Given the description of an element on the screen output the (x, y) to click on. 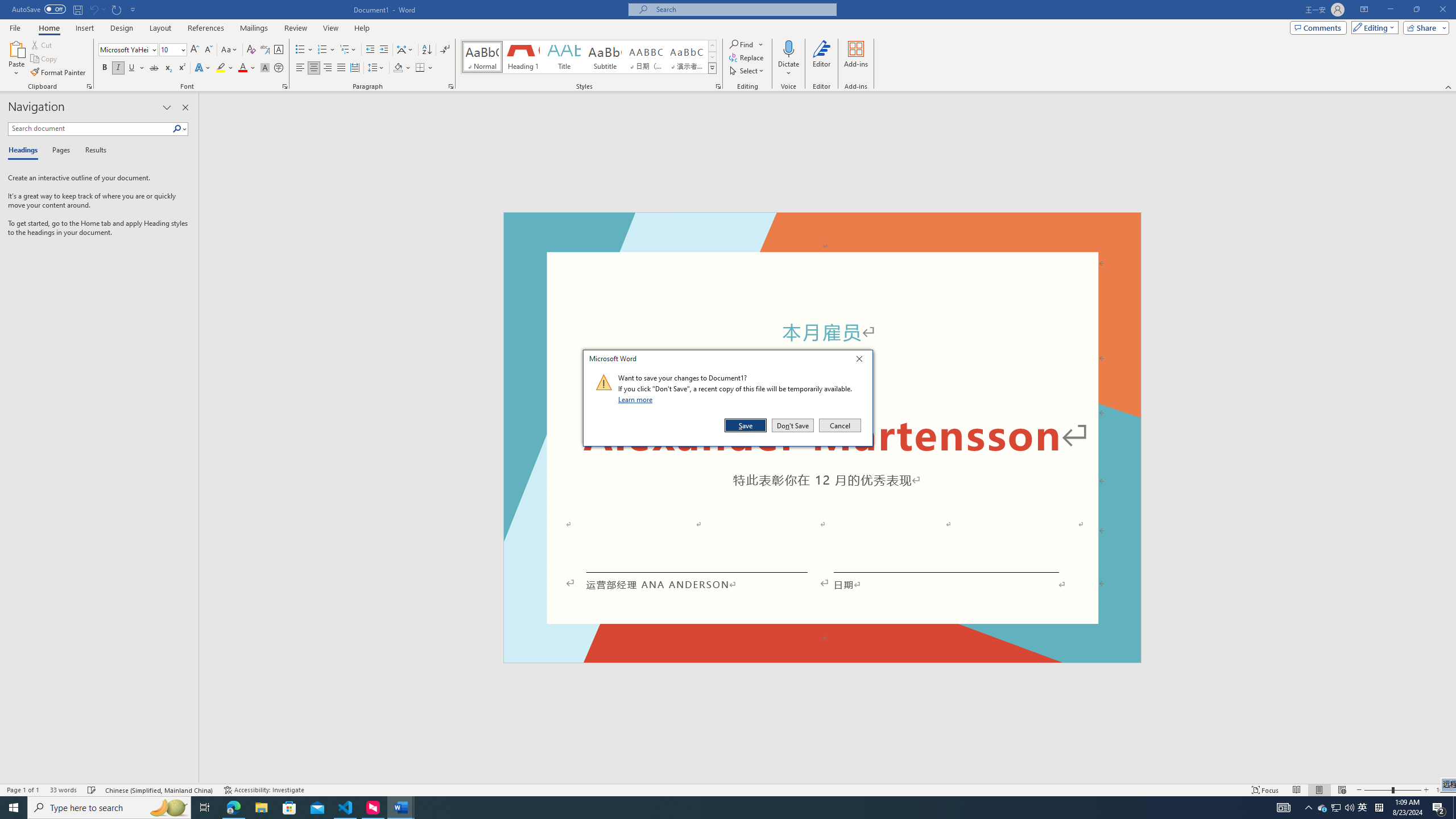
Type here to search (108, 807)
Font (128, 49)
Close pane (185, 107)
Layout (160, 28)
File Explorer (261, 807)
Select (747, 69)
Underline (131, 67)
Mailings (253, 28)
Microsoft search (742, 9)
Font (124, 49)
Quick Access Toolbar (74, 9)
Can't Undo (92, 9)
Enclose Characters... (278, 67)
